Given the description of an element on the screen output the (x, y) to click on. 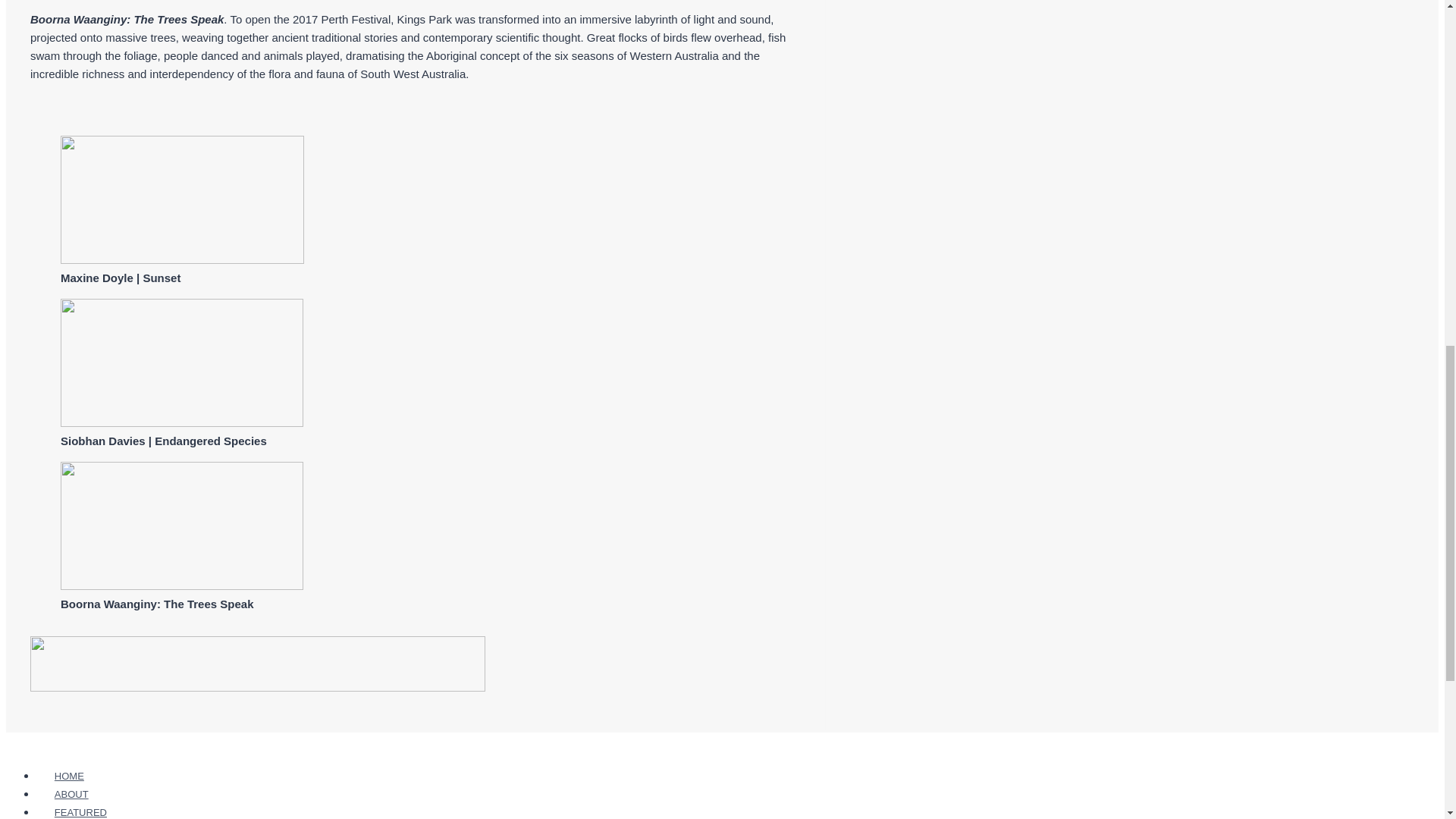
FEATURED (80, 811)
ABOUT (71, 794)
HOME (68, 775)
